Given the description of an element on the screen output the (x, y) to click on. 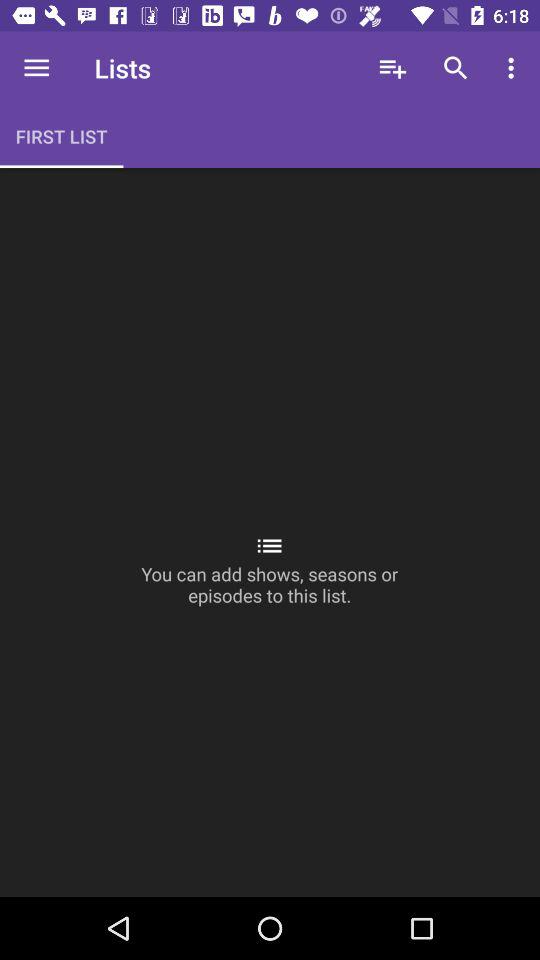
click item next to the lists (36, 68)
